Given the description of an element on the screen output the (x, y) to click on. 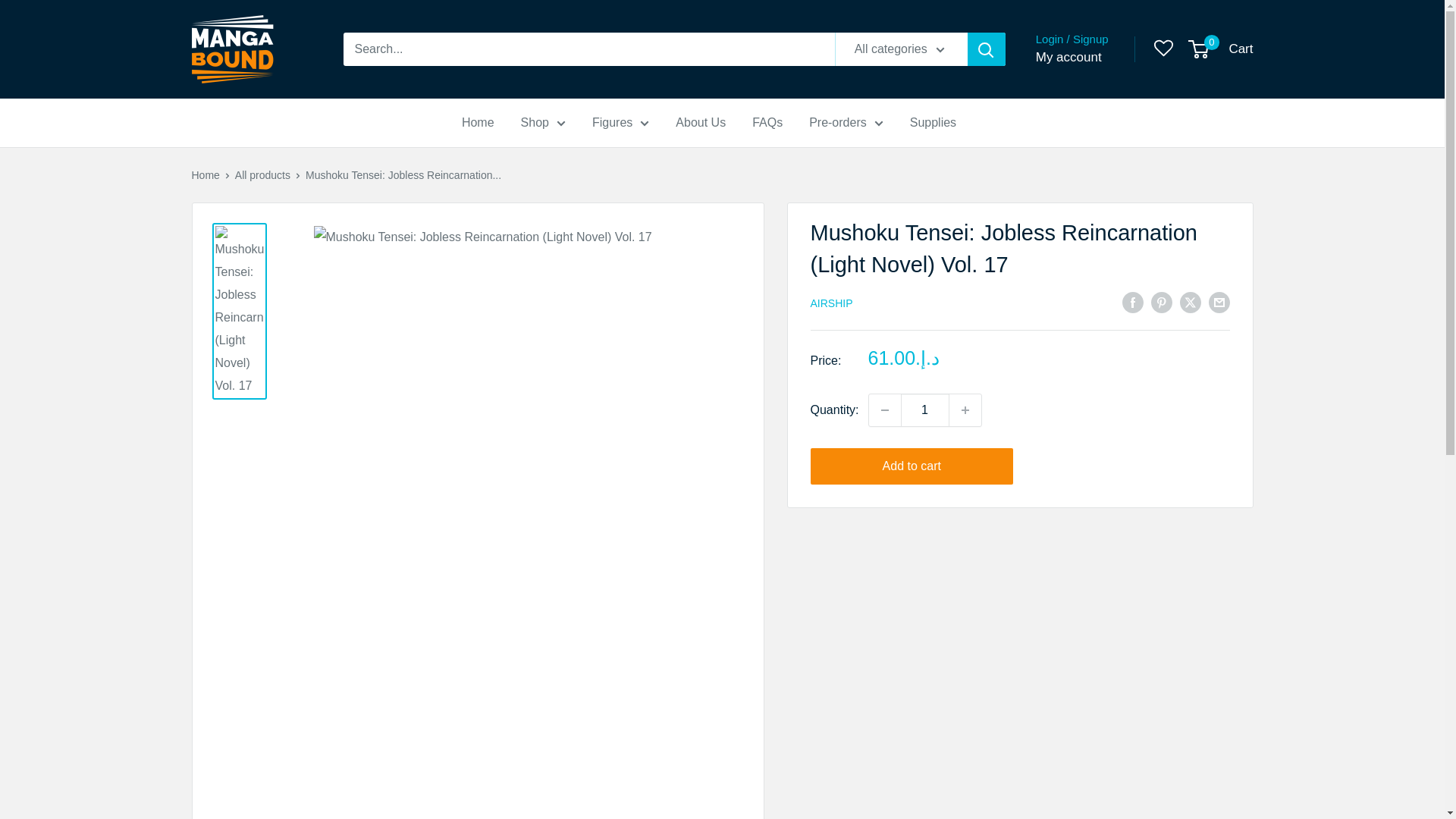
Decrease quantity by 1 (885, 409)
1 (925, 409)
Increase quantity by 1 (965, 409)
